Given the description of an element on the screen output the (x, y) to click on. 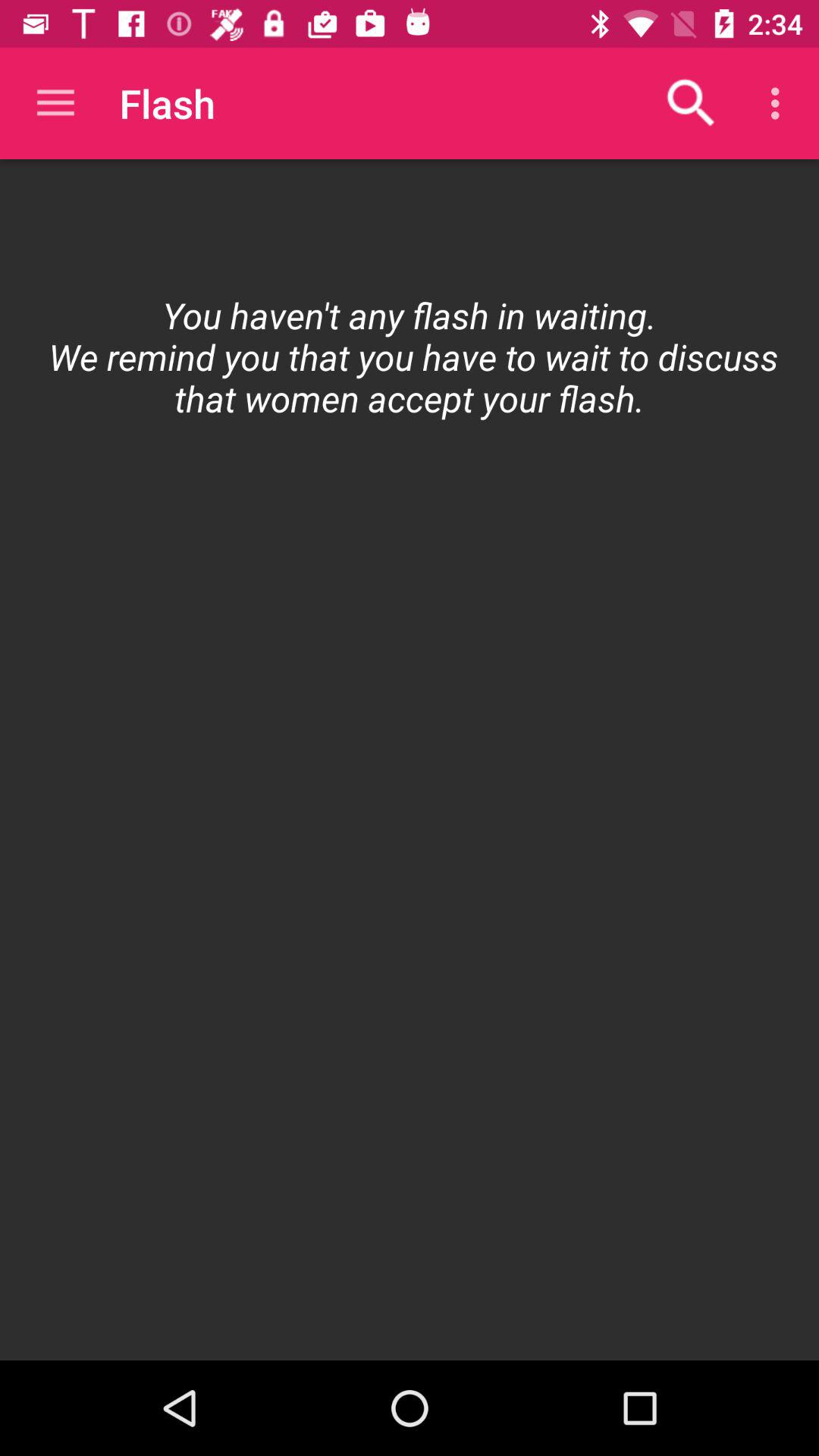
tap item above the   item (55, 103)
